Given the description of an element on the screen output the (x, y) to click on. 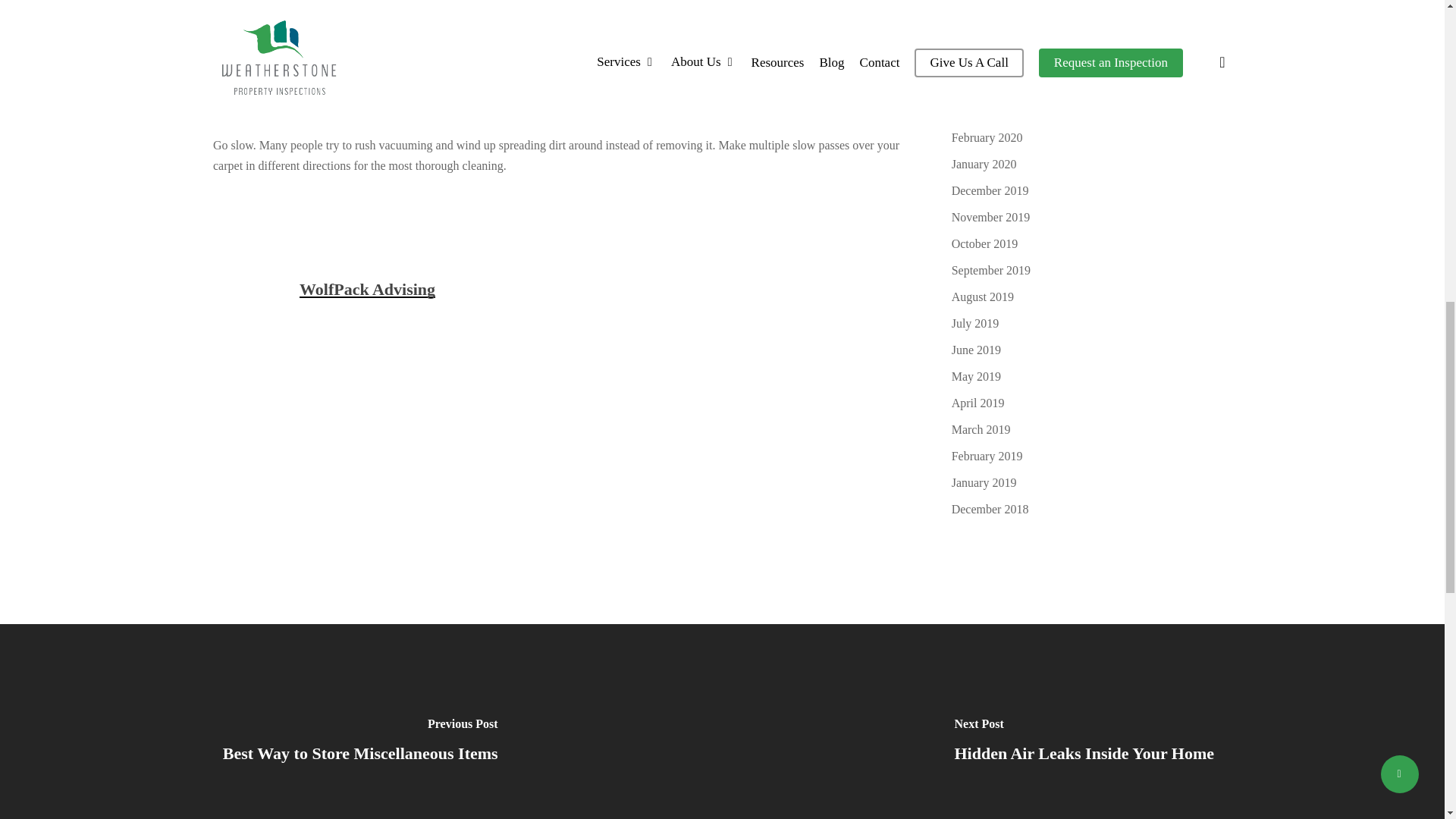
March 2020 (1091, 110)
May 2020 (1091, 57)
February 2020 (1091, 137)
April 2020 (1091, 84)
July 2020 (1091, 7)
WolfPack Advising (367, 289)
June 2020 (1091, 31)
